Given the description of an element on the screen output the (x, y) to click on. 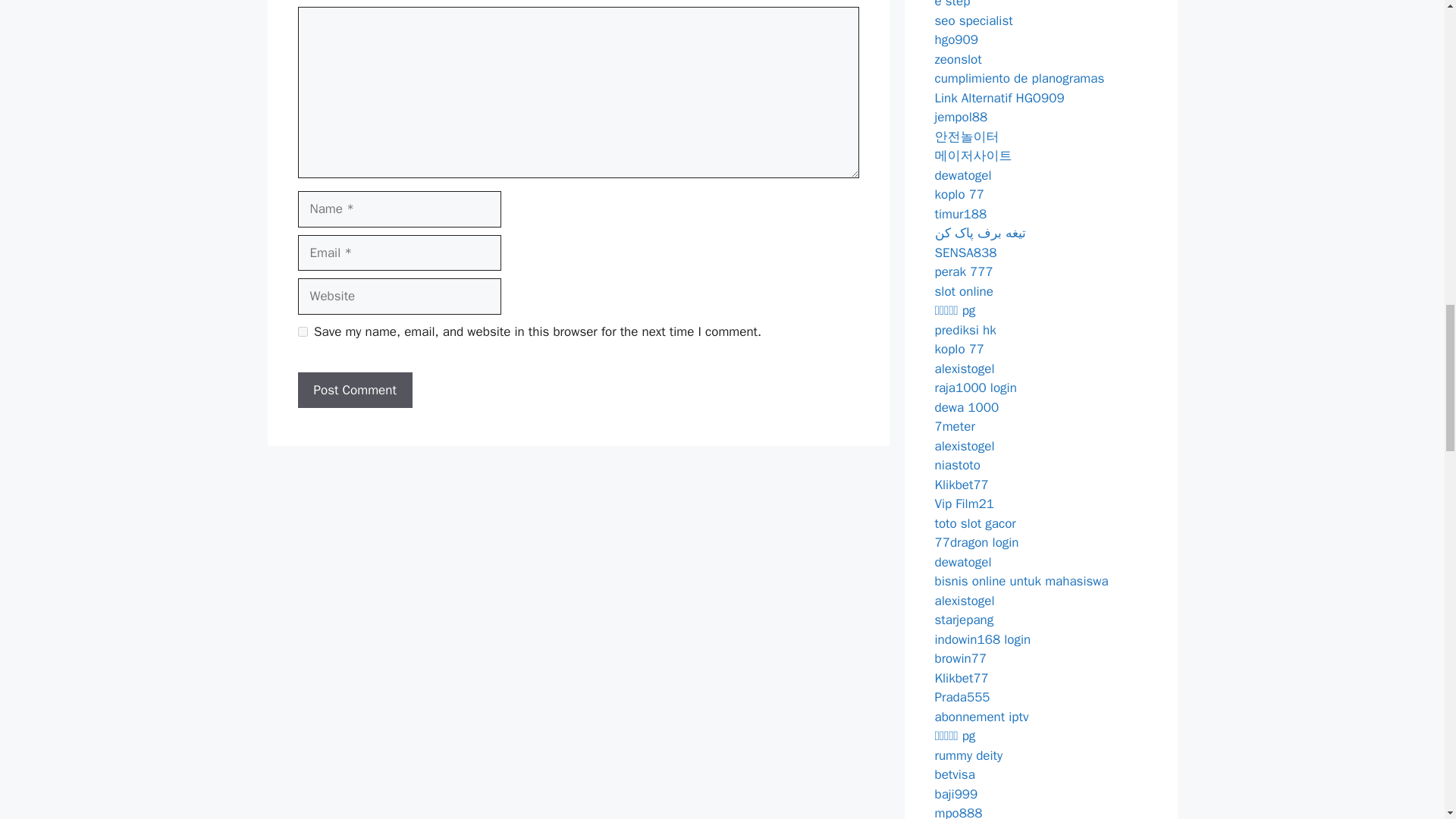
Post Comment (354, 390)
Post Comment (354, 390)
yes (302, 331)
